Given the description of an element on the screen output the (x, y) to click on. 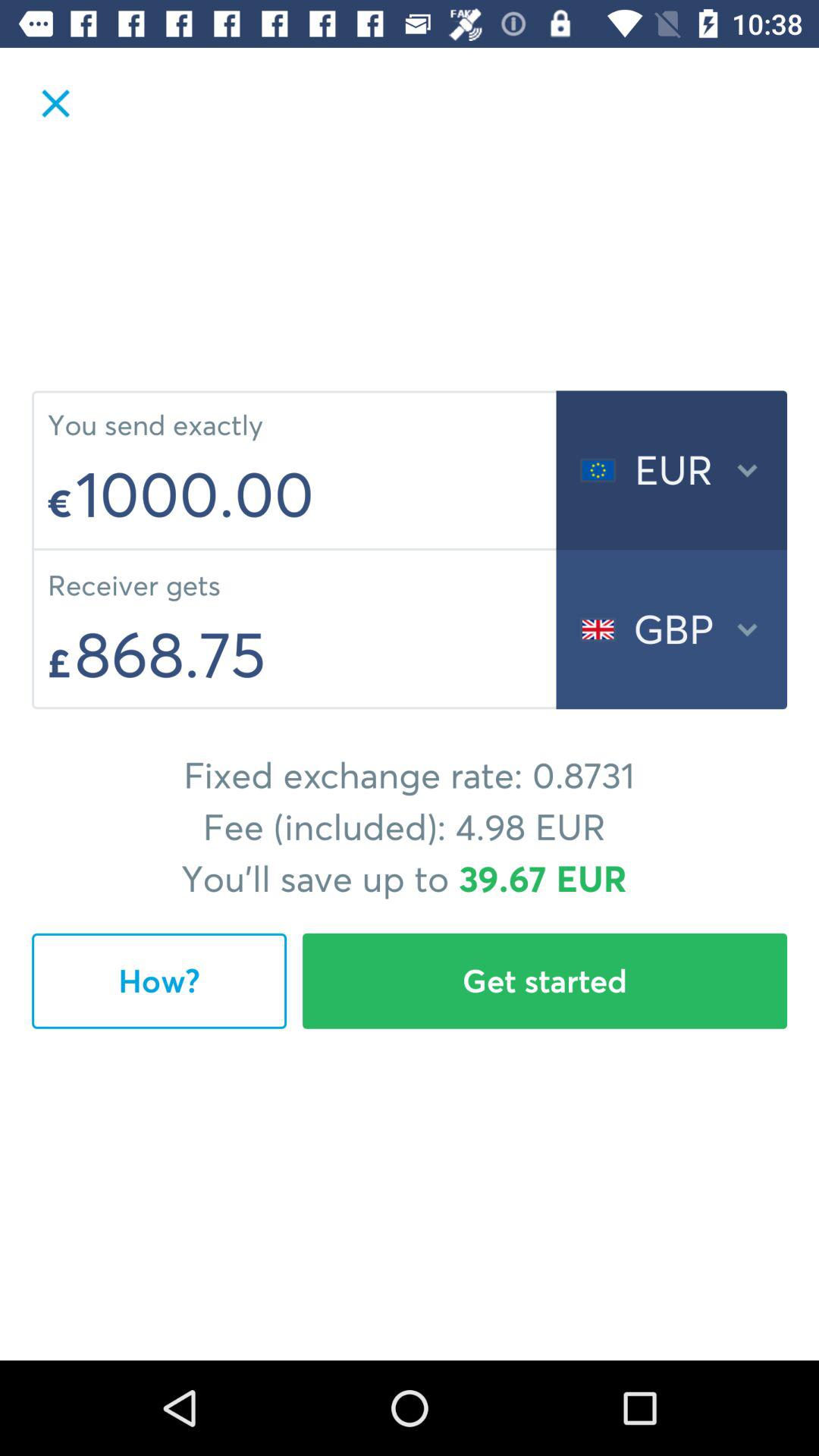
turn on item next to how? (544, 980)
